Given the description of an element on the screen output the (x, y) to click on. 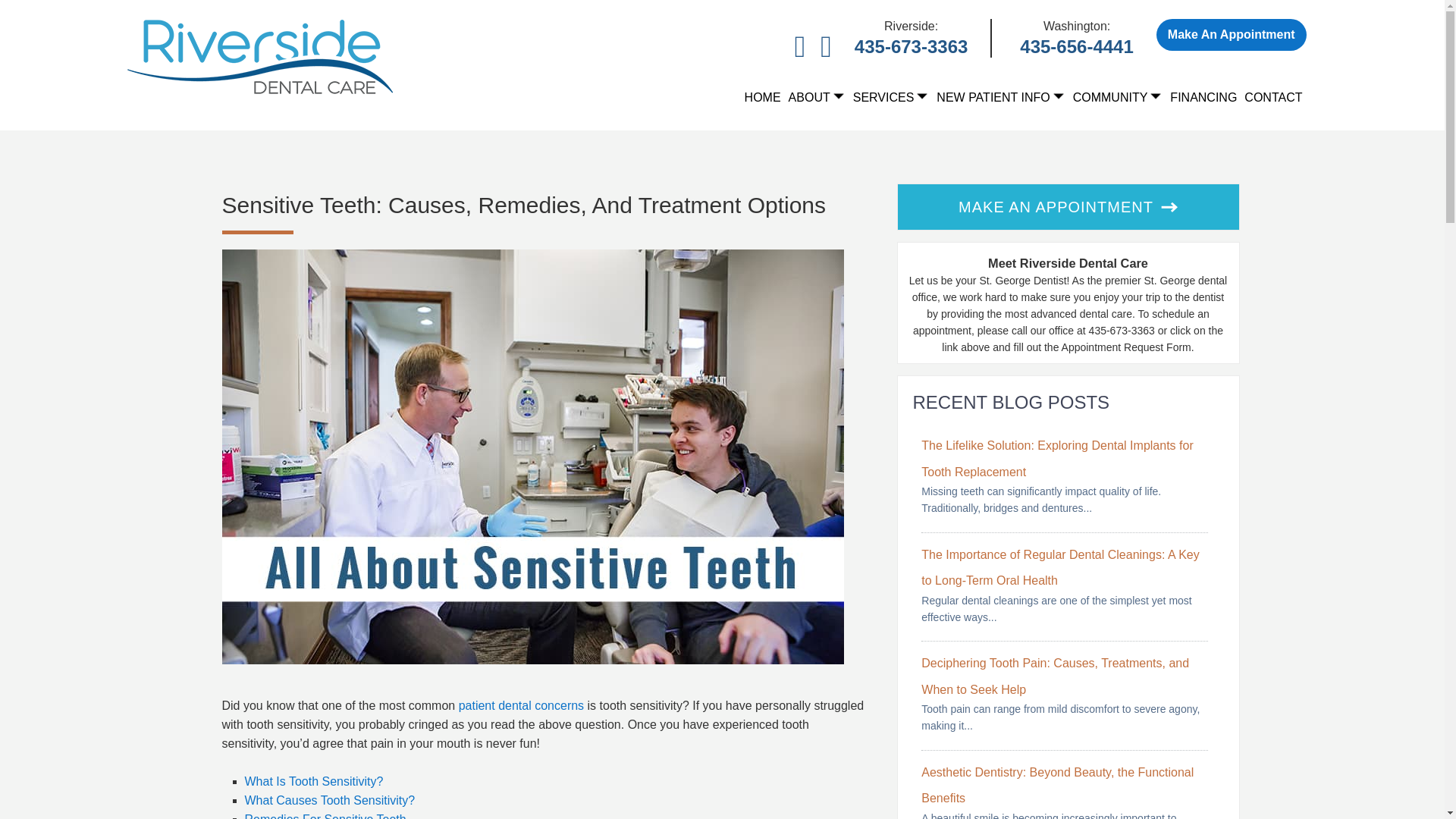
435-656-4441 (1076, 46)
patient dental concerns (520, 705)
SERVICES (890, 97)
What Is Tooth Sensitivity? (313, 780)
Riverside Dental (260, 56)
Make An Appointment (1231, 34)
HOME (762, 97)
What Causes Tooth Sensitivity? (329, 799)
COMMUNITY (1117, 97)
NEW PATIENT INFO (1000, 97)
